Given the description of an element on the screen output the (x, y) to click on. 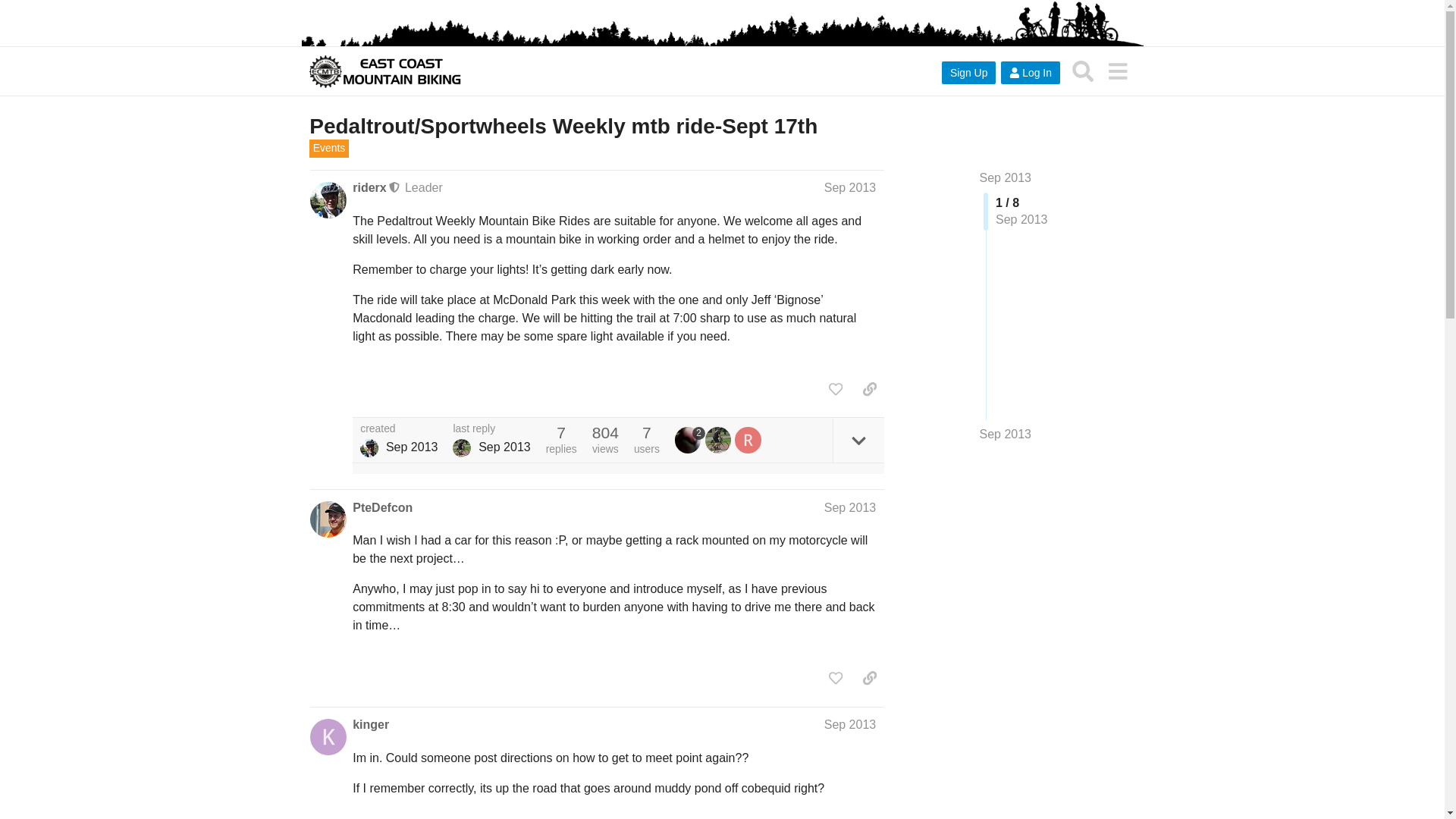
Ericsullivan (461, 447)
expand topic details (857, 439)
PteDefcon (382, 507)
Sep 19, 2013 8:30 pm (505, 446)
Sep 2013 (850, 187)
Sep 2013 (850, 507)
2 (689, 439)
Konarider (368, 447)
Sep 17, 2013 1:23 am (411, 446)
Log In (1030, 72)
like this post (835, 388)
Events (328, 148)
Events calendar link: Events Calendar (328, 148)
Search (1082, 71)
Post date (850, 187)
